Given the description of an element on the screen output the (x, y) to click on. 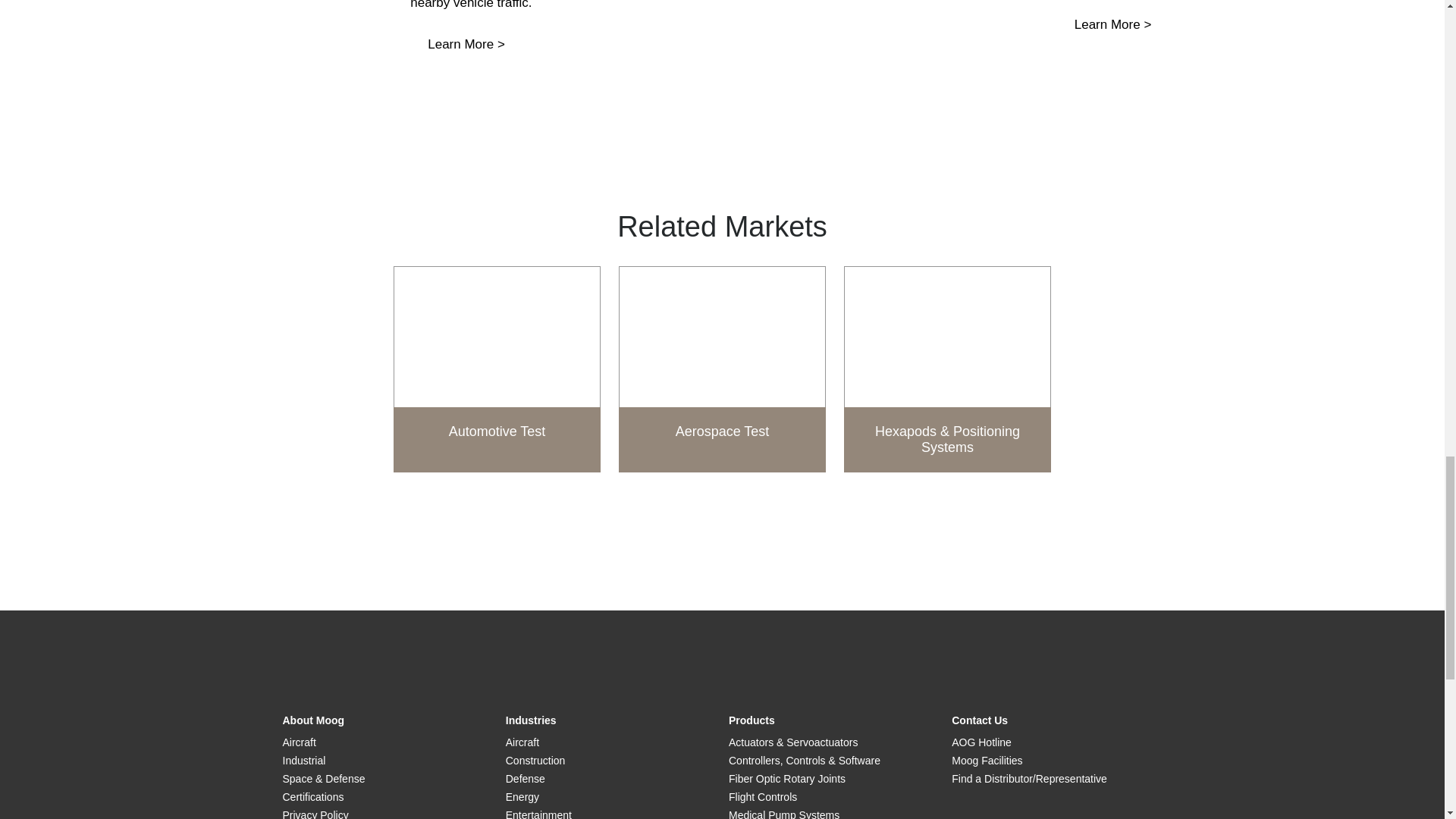
Automotive Test (496, 369)
Aerospace Test (721, 369)
